Given the description of an element on the screen output the (x, y) to click on. 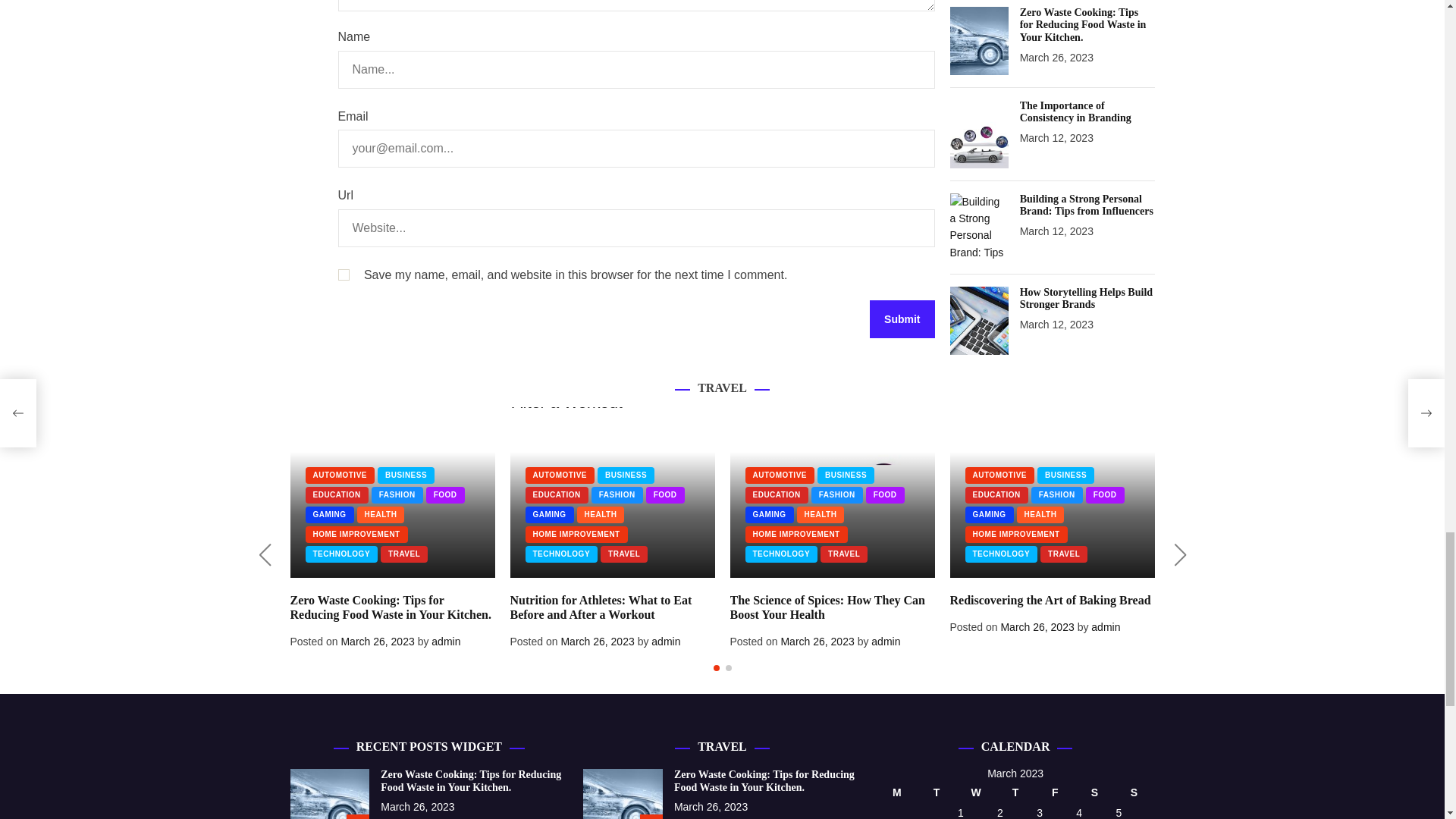
Tuesday (936, 791)
Thursday (1014, 791)
Friday (1054, 791)
Monday (896, 791)
Submit (901, 319)
Wednesday (975, 791)
Sunday (1134, 791)
yes (343, 274)
Saturday (1094, 791)
